Given the description of an element on the screen output the (x, y) to click on. 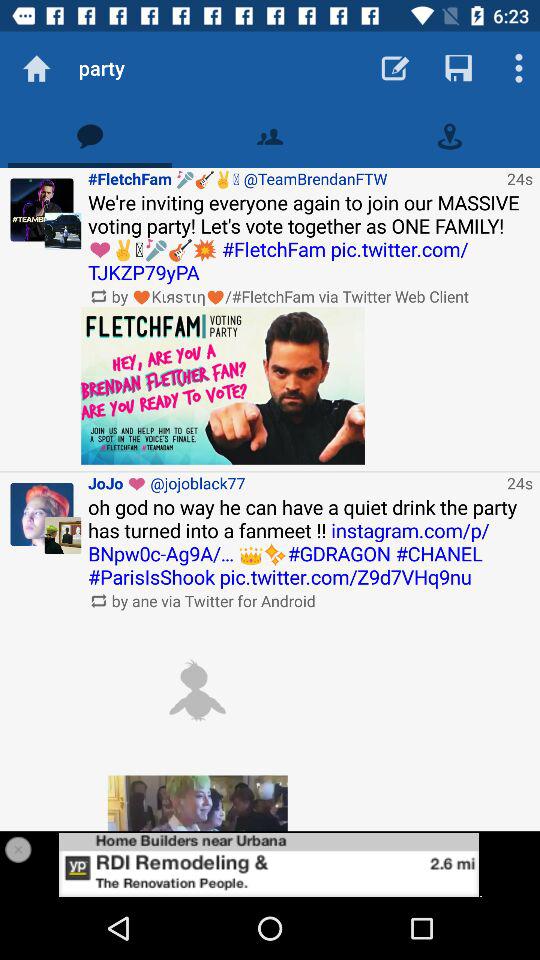
open icon above we re inviting (294, 178)
